Given the description of an element on the screen output the (x, y) to click on. 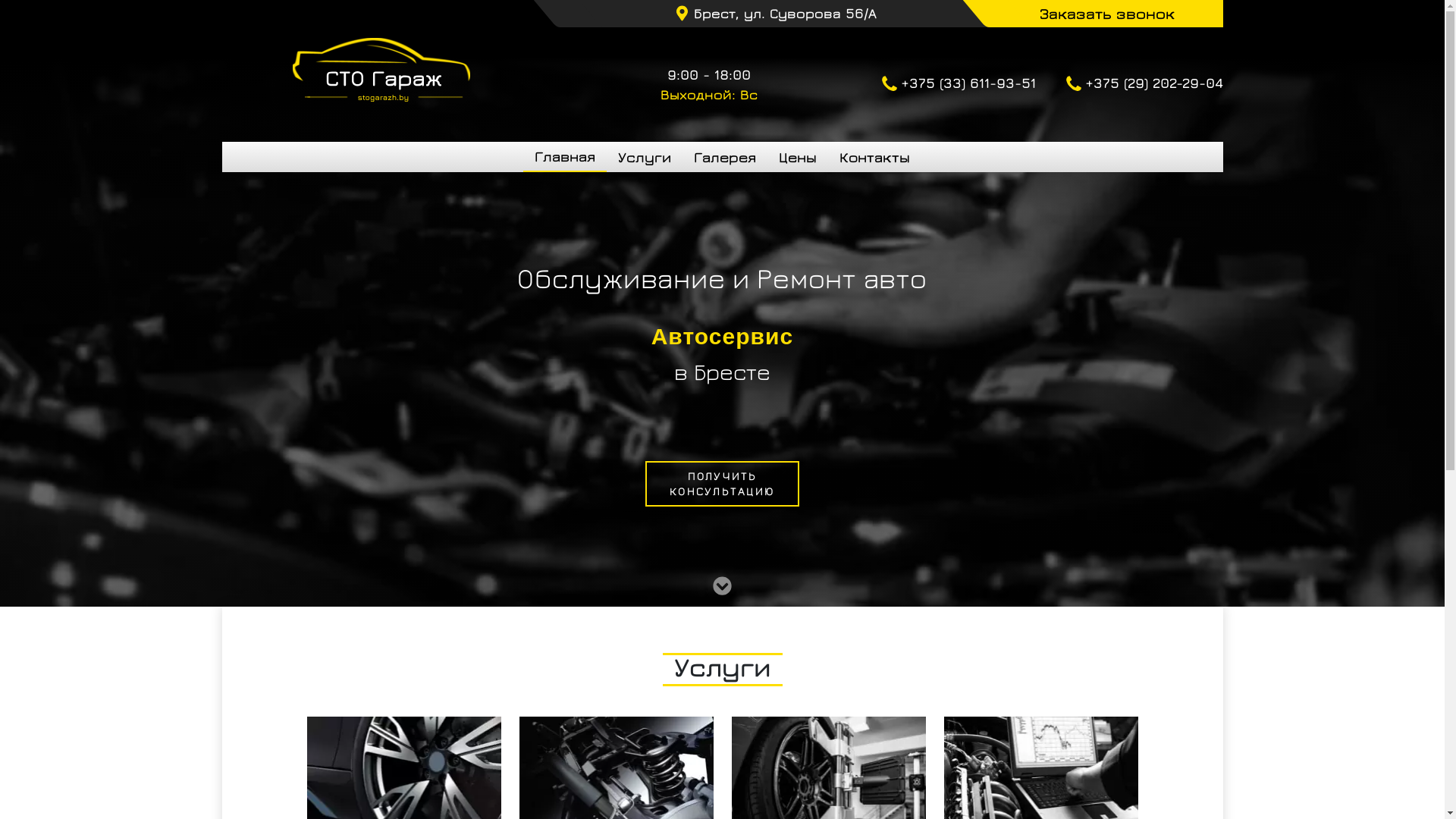
+375 (33) 611-93-51 Element type: text (958, 84)
+375 (29) 202-29-04 Element type: text (1144, 84)
